Given the description of an element on the screen output the (x, y) to click on. 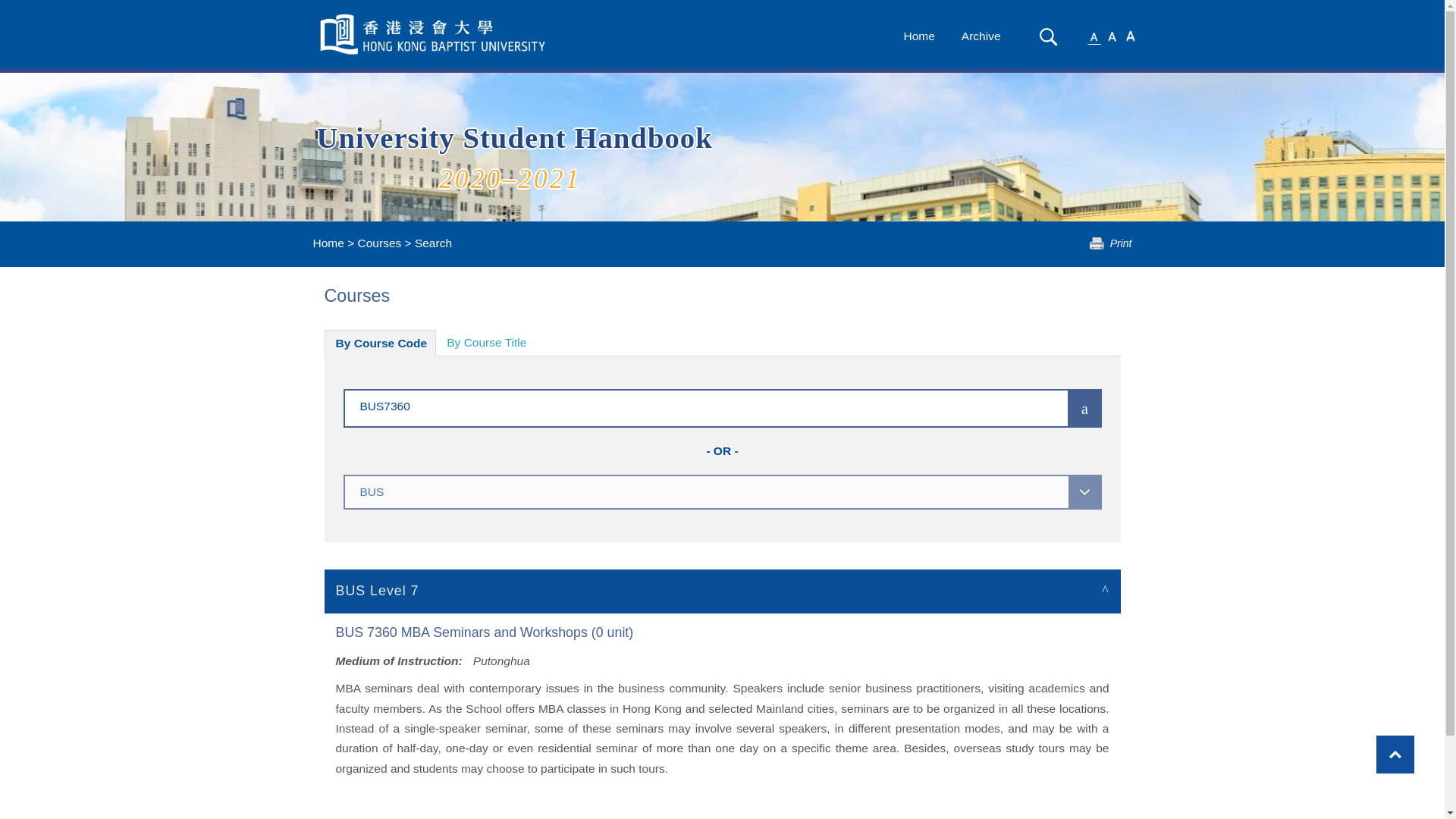
Scroll To Top (1394, 754)
Archive (981, 36)
Search (1048, 36)
selected (434, 34)
BUS Level 7 (722, 590)
Print (1110, 243)
Search (1048, 36)
Home (328, 242)
HKBU Student Handbook (434, 34)
Scroll To Top (1394, 754)
